Given the description of an element on the screen output the (x, y) to click on. 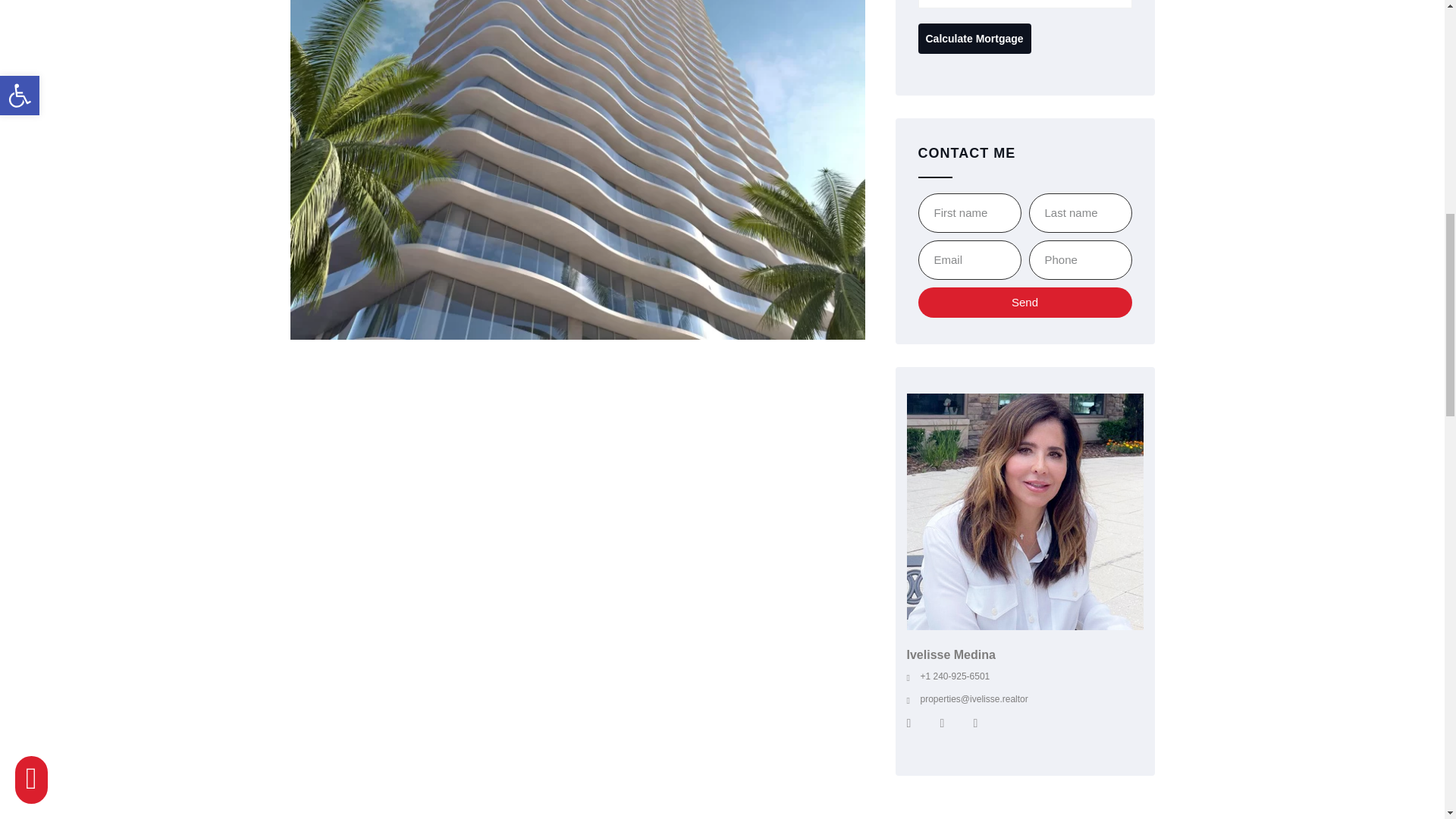
Calculate Mortgage (973, 38)
